Given the description of an element on the screen output the (x, y) to click on. 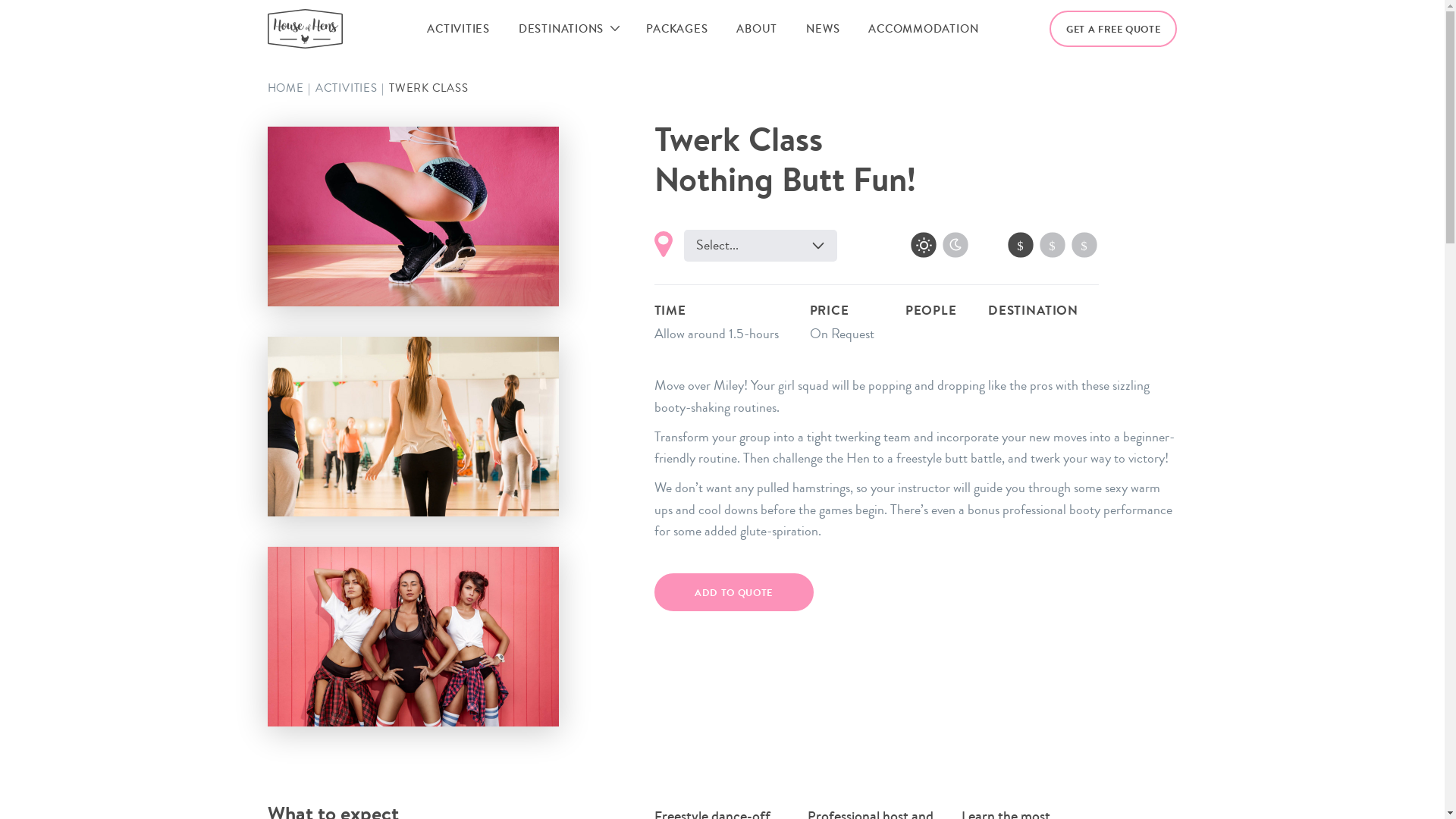
HOME Element type: text (284, 87)
DESTINATIONS Element type: text (561, 28)
NEWS Element type: text (822, 28)
ACCOMMODATION Element type: text (922, 28)
ABOUT Element type: text (756, 28)
ACTIVITIES Element type: text (458, 28)
PACKAGES Element type: text (676, 28)
ADD TO QUOTE Element type: text (732, 592)
TWERK CLASS Element type: text (428, 87)
ACTIVITIES Element type: text (346, 87)
GET A FREE QUOTE Element type: text (1113, 28)
